Given the description of an element on the screen output the (x, y) to click on. 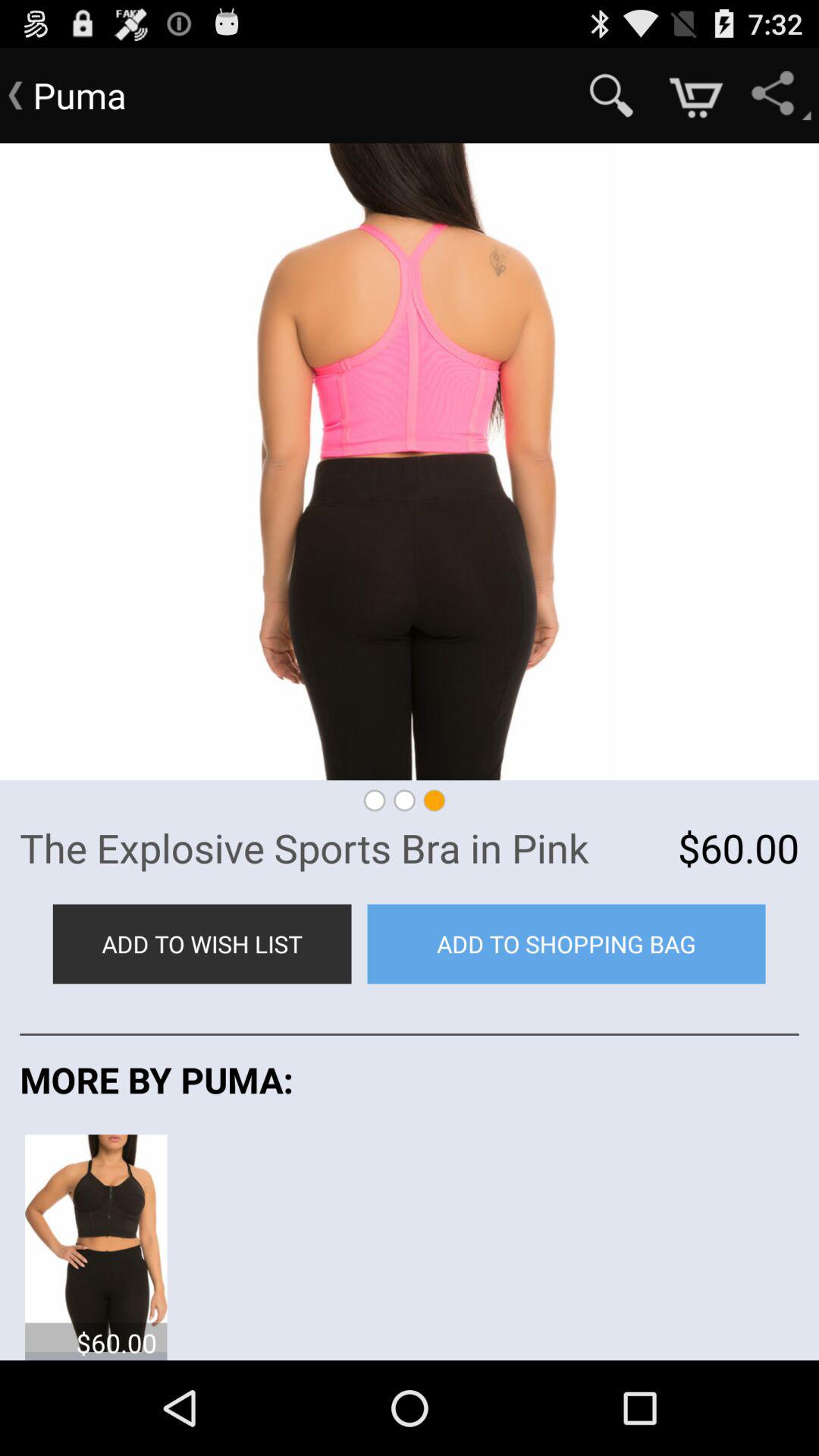
click item to the right of the puma app (611, 95)
